Given the description of an element on the screen output the (x, y) to click on. 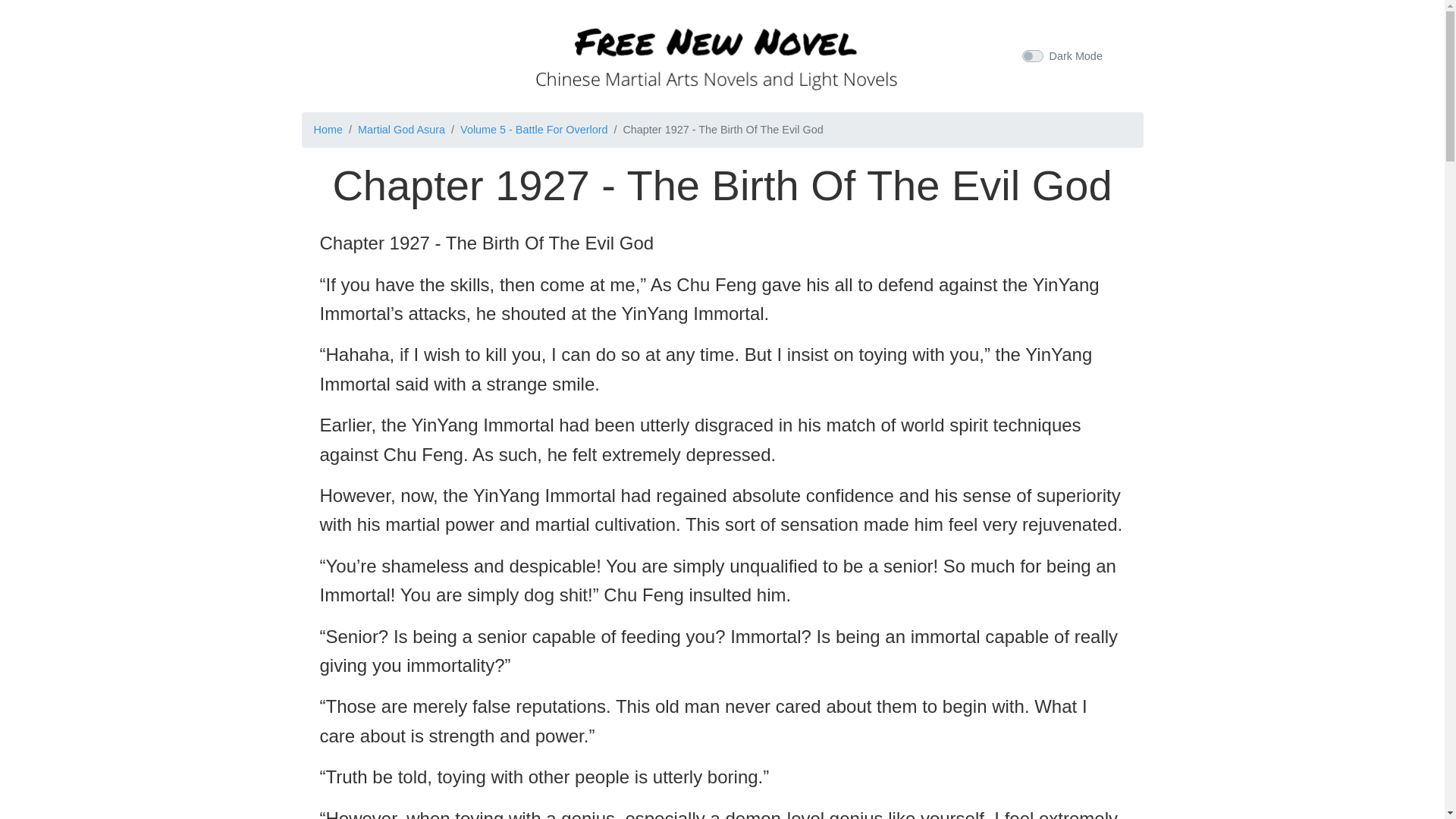
Home (328, 129)
Free Novel Online (716, 53)
Martial God Asura (401, 129)
Volume 5 - Battle For Overlord (533, 129)
